Given the description of an element on the screen output the (x, y) to click on. 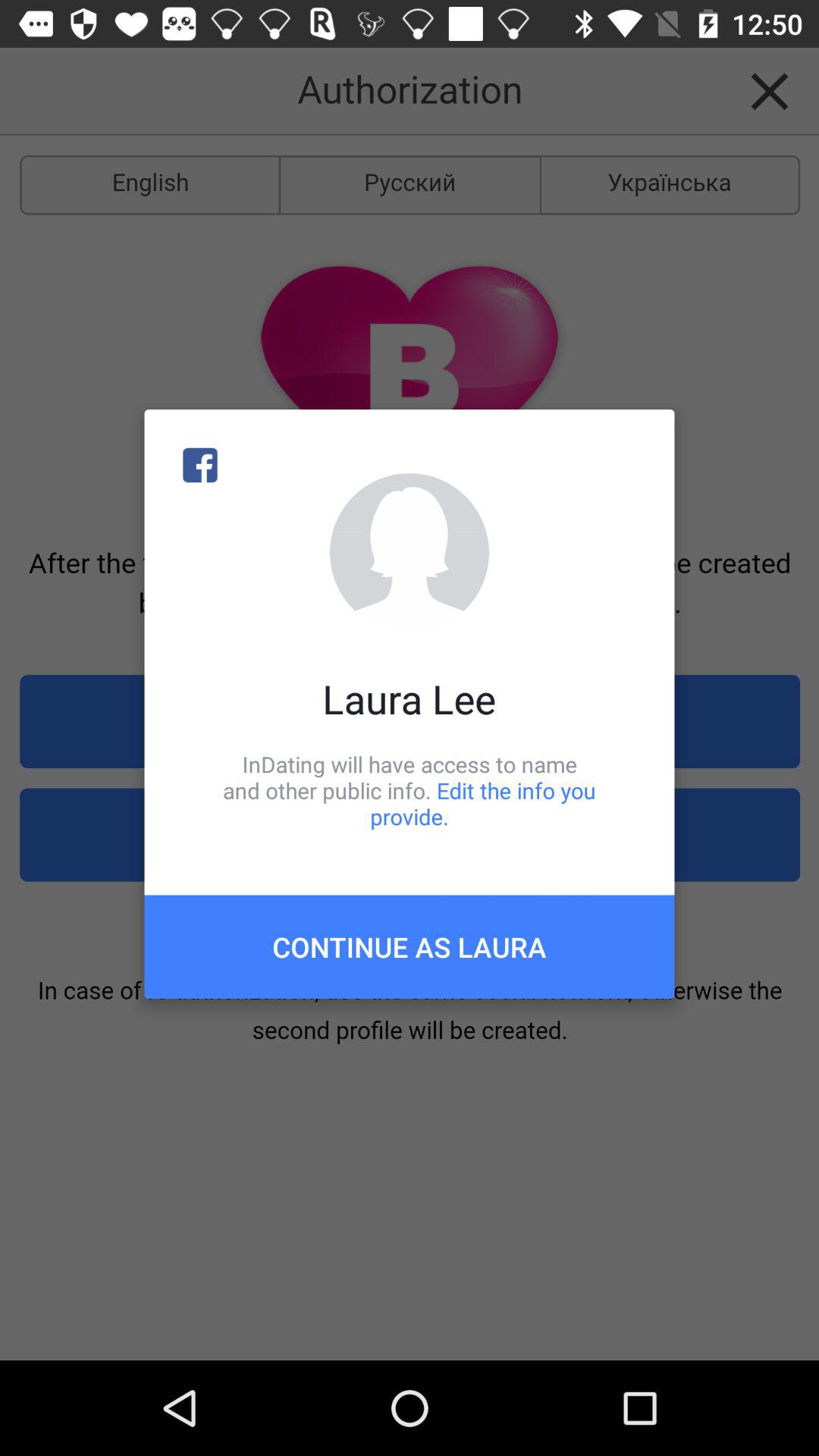
launch the item below laura lee icon (409, 790)
